Given the description of an element on the screen output the (x, y) to click on. 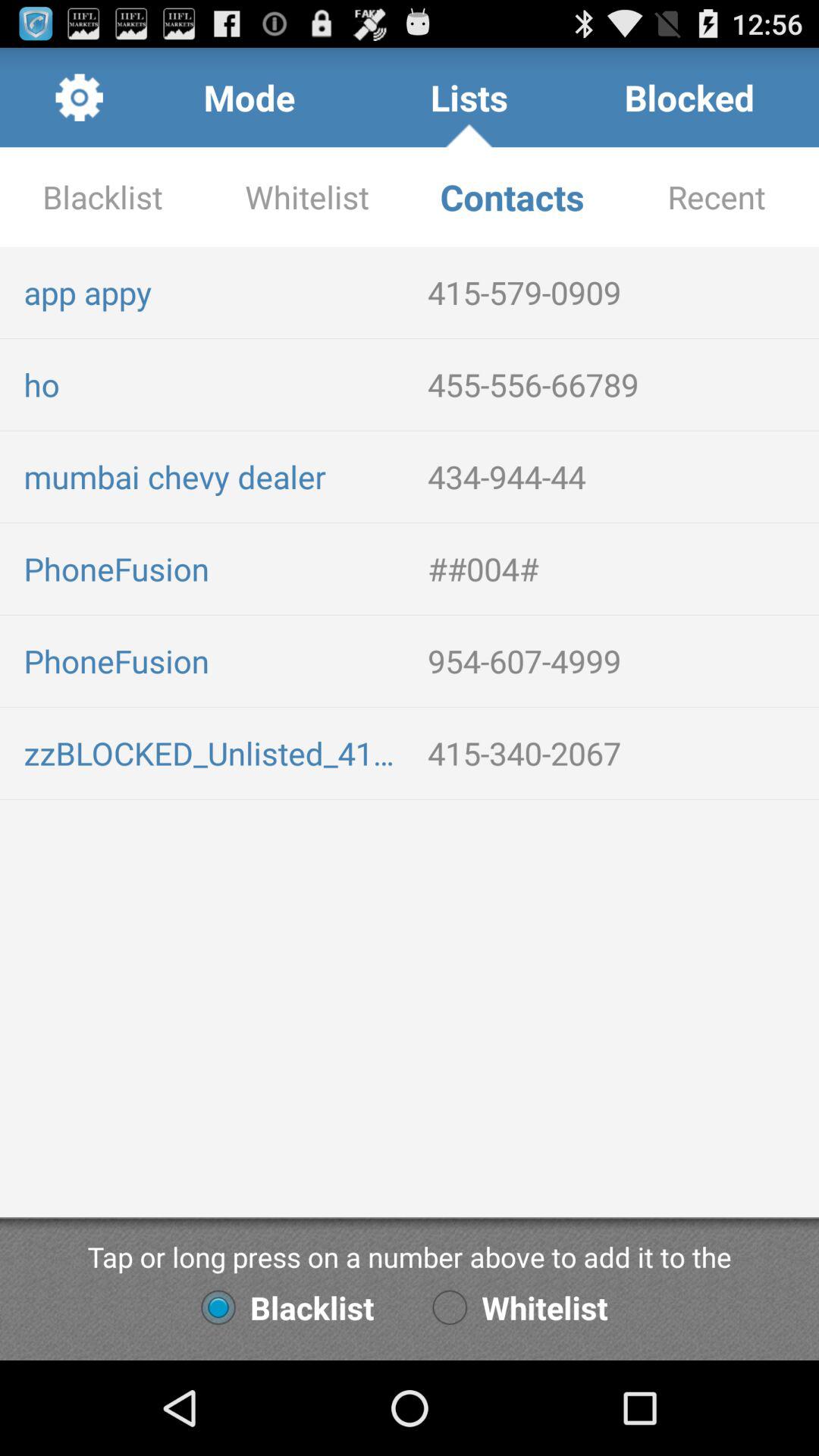
click the item below mumbai chevy dealer icon (617, 568)
